Given the description of an element on the screen output the (x, y) to click on. 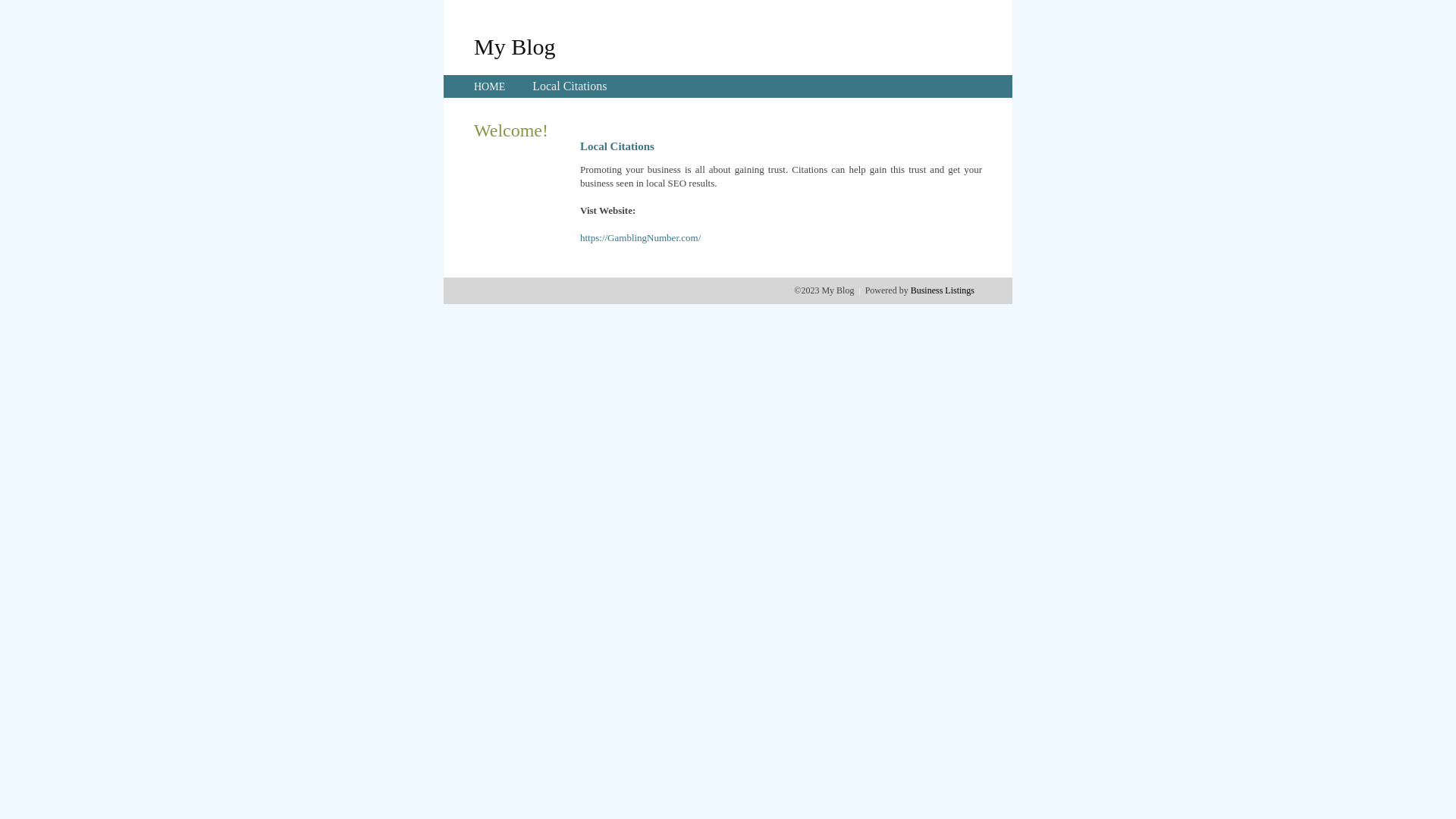
Local Citations Element type: text (569, 85)
My Blog Element type: text (514, 46)
https://GamblingNumber.com/ Element type: text (640, 237)
Business Listings Element type: text (942, 290)
HOME Element type: text (489, 86)
